Given the description of an element on the screen output the (x, y) to click on. 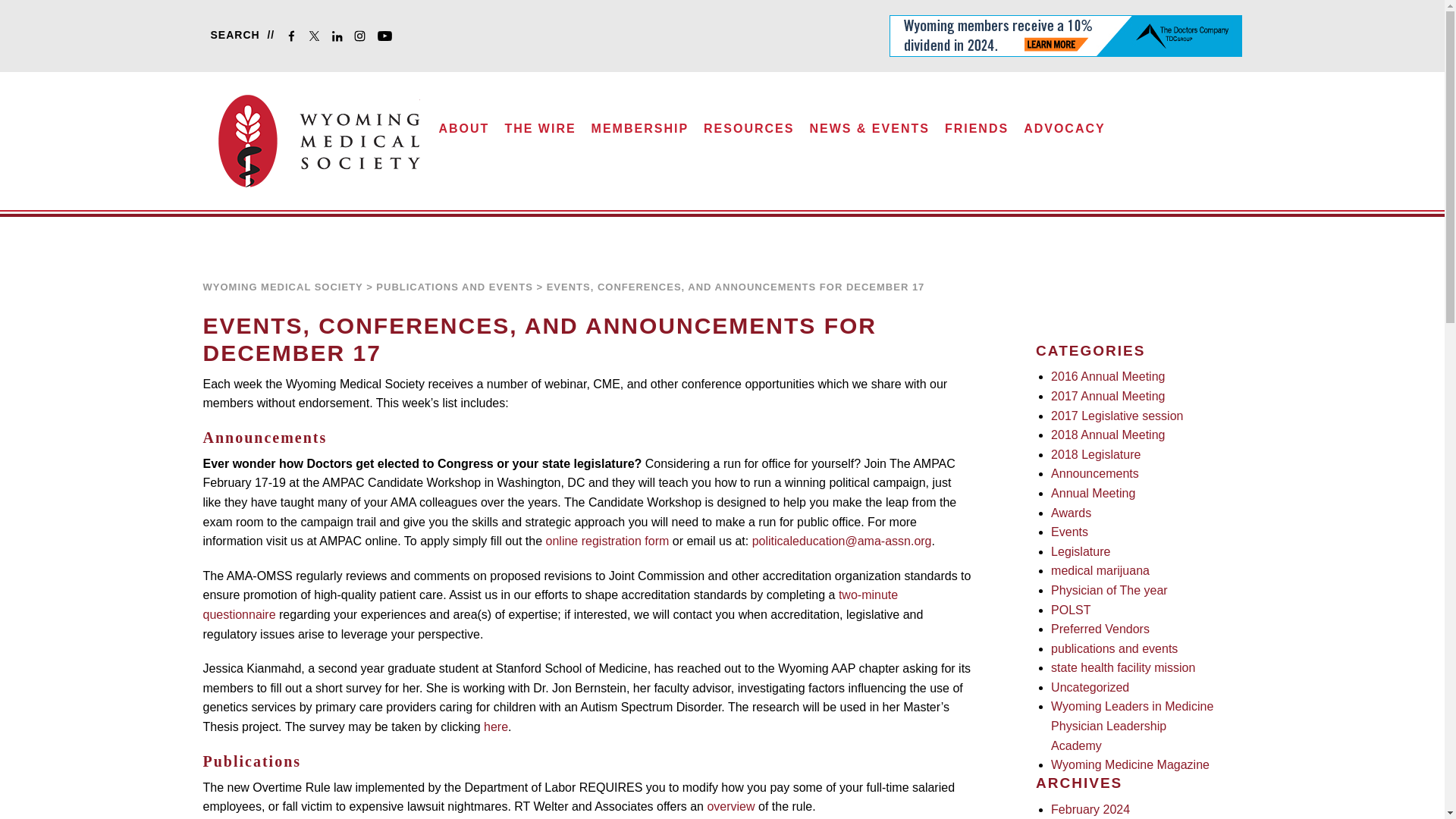
TWITTER (316, 38)
MEMBERSHIP (640, 133)
RESOURCES (748, 133)
ABOUT (464, 133)
SEARCH (239, 34)
YOUTUBE (388, 38)
THE WIRE (539, 133)
INSTAGRAM (362, 38)
Go to the publications and events Category archives. (453, 286)
FACEBOOK (294, 38)
Wyoming Medical Society (319, 141)
Go to Wyoming Medical Society. (282, 286)
LINKEDIN (339, 38)
